Given the description of an element on the screen output the (x, y) to click on. 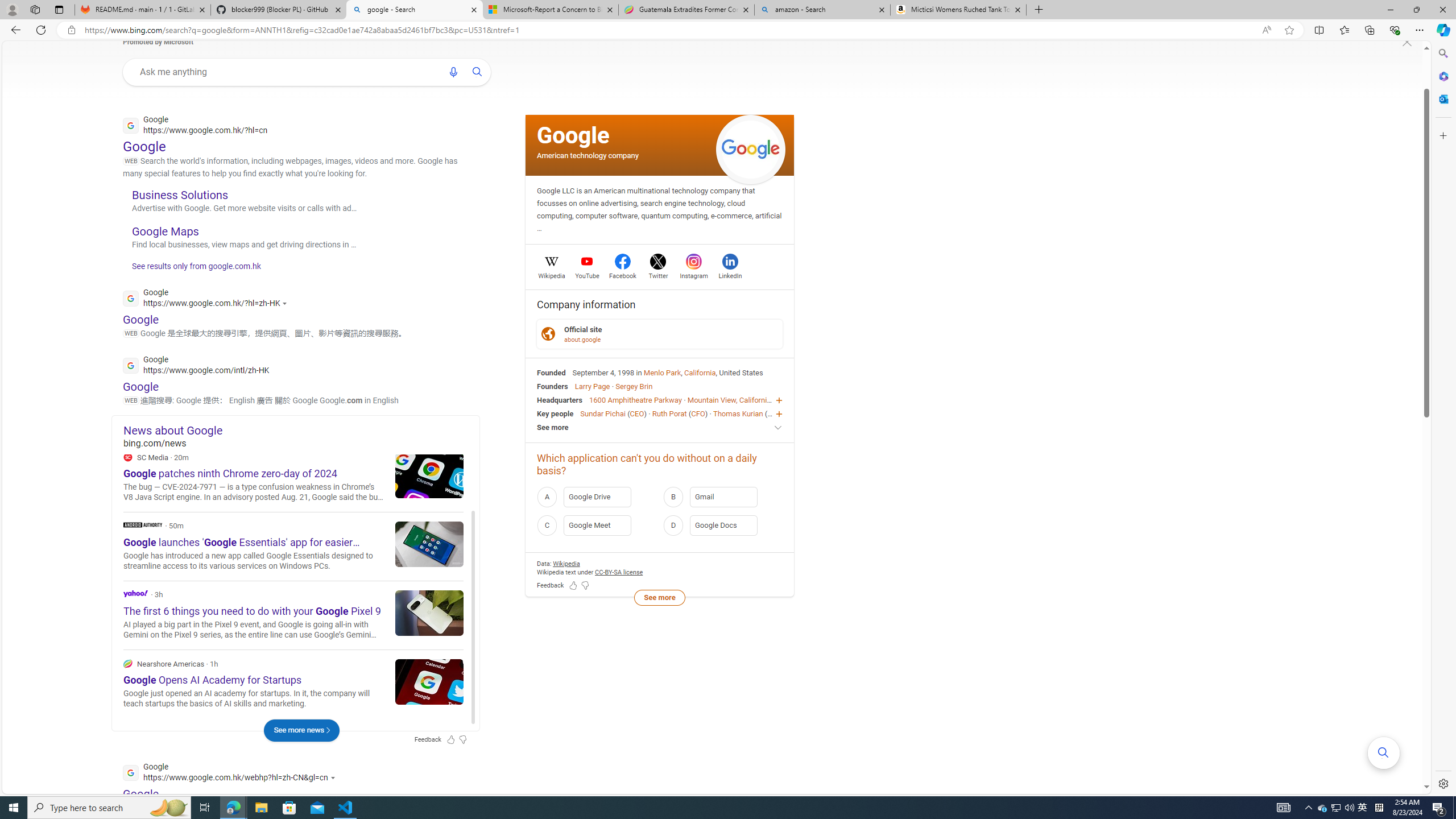
Facebook (622, 274)
Official Site Official site about.google (659, 333)
Export (450, 483)
Ask me anything (285, 71)
See more news (301, 730)
Key people (555, 412)
Founded (551, 371)
